Given the description of an element on the screen output the (x, y) to click on. 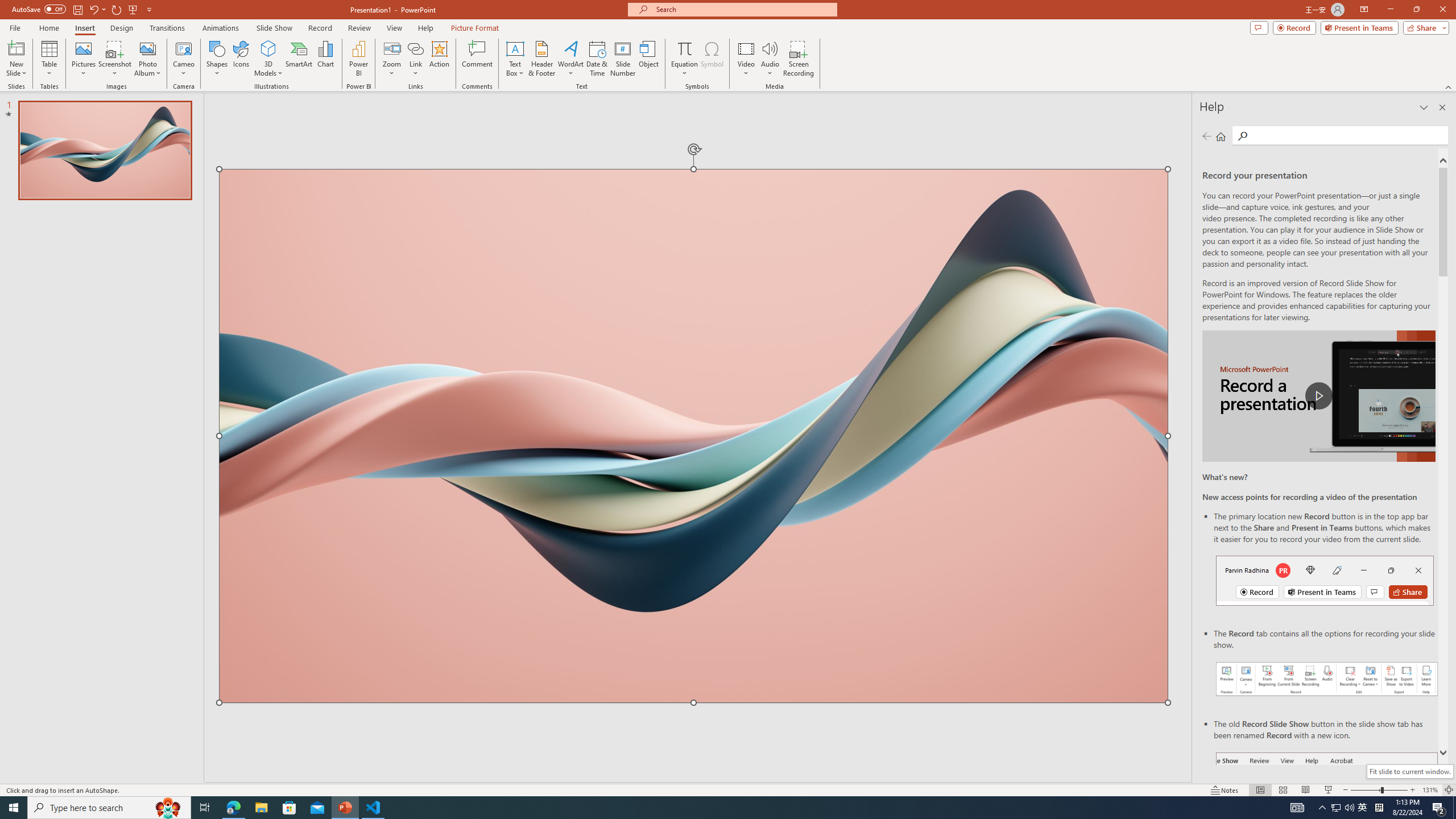
Zoom 131% (1430, 790)
Draw Horizontal Text Box (515, 48)
Power BI (358, 58)
